Given the description of an element on the screen output the (x, y) to click on. 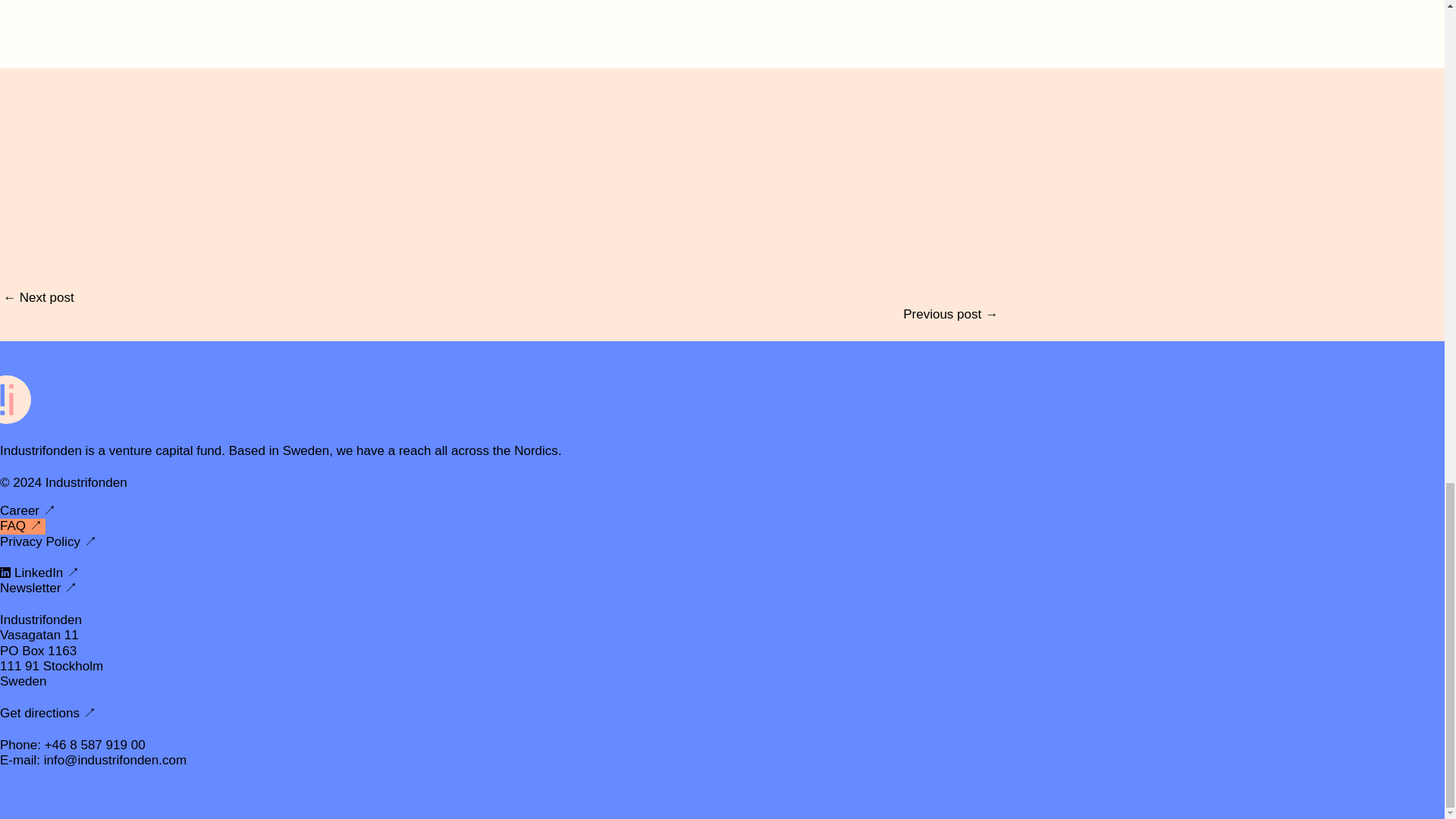
Industrifonden (15, 434)
